Given the description of an element on the screen output the (x, y) to click on. 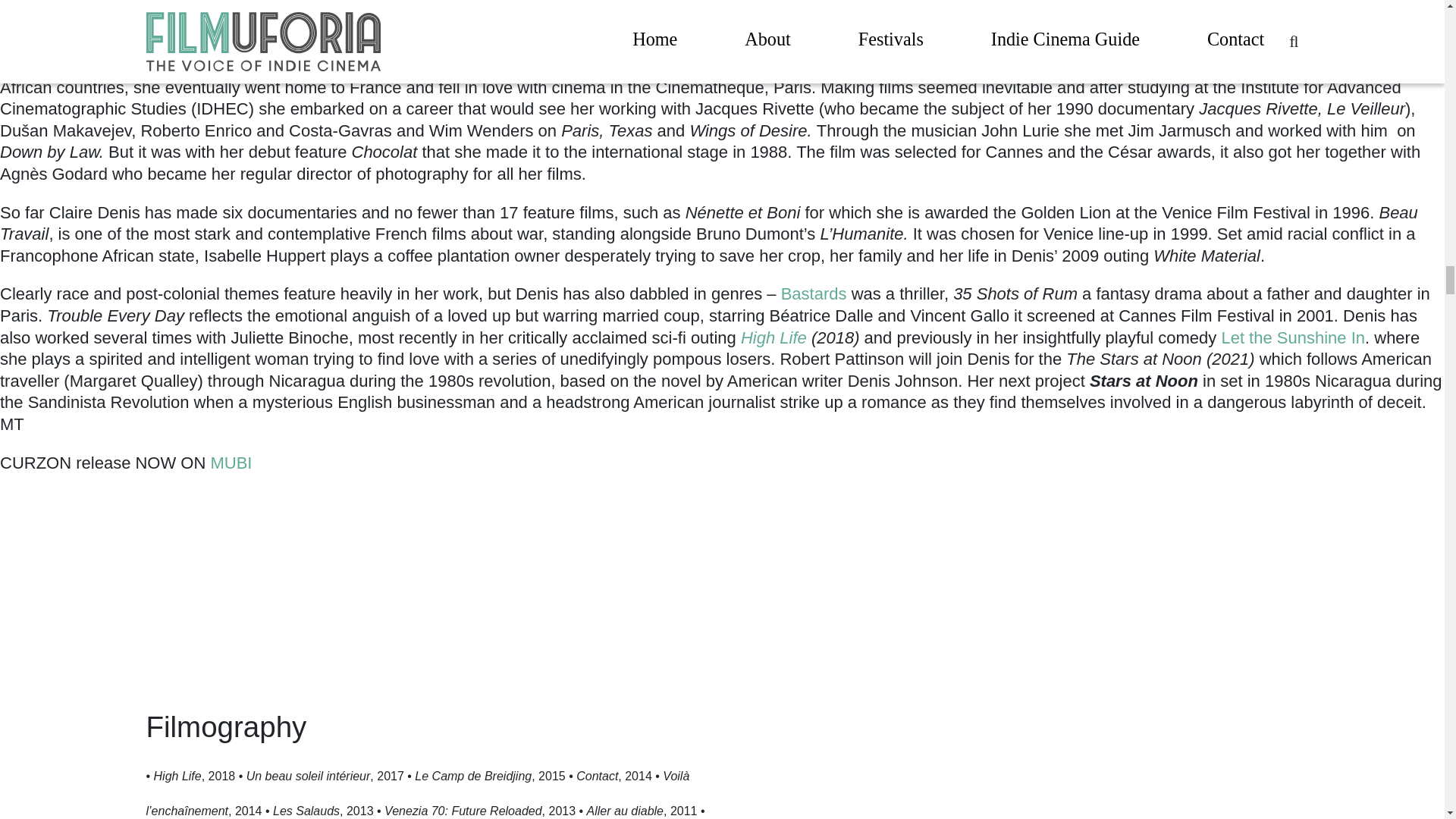
High Life (773, 337)
Bastards (811, 293)
Let the Sunshine In (1293, 337)
MUBI  (230, 462)
